Given the description of an element on the screen output the (x, y) to click on. 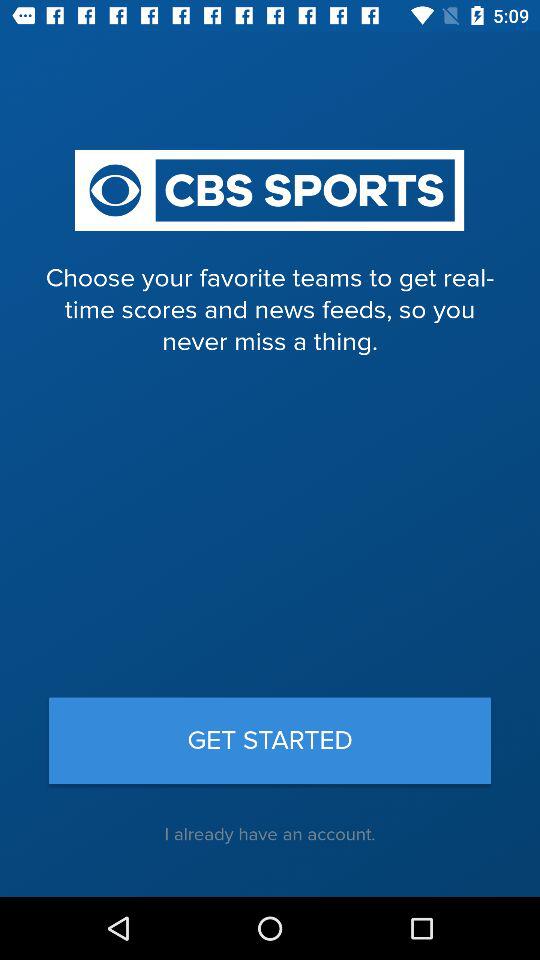
press icon below choose your favorite icon (269, 740)
